Given the description of an element on the screen output the (x, y) to click on. 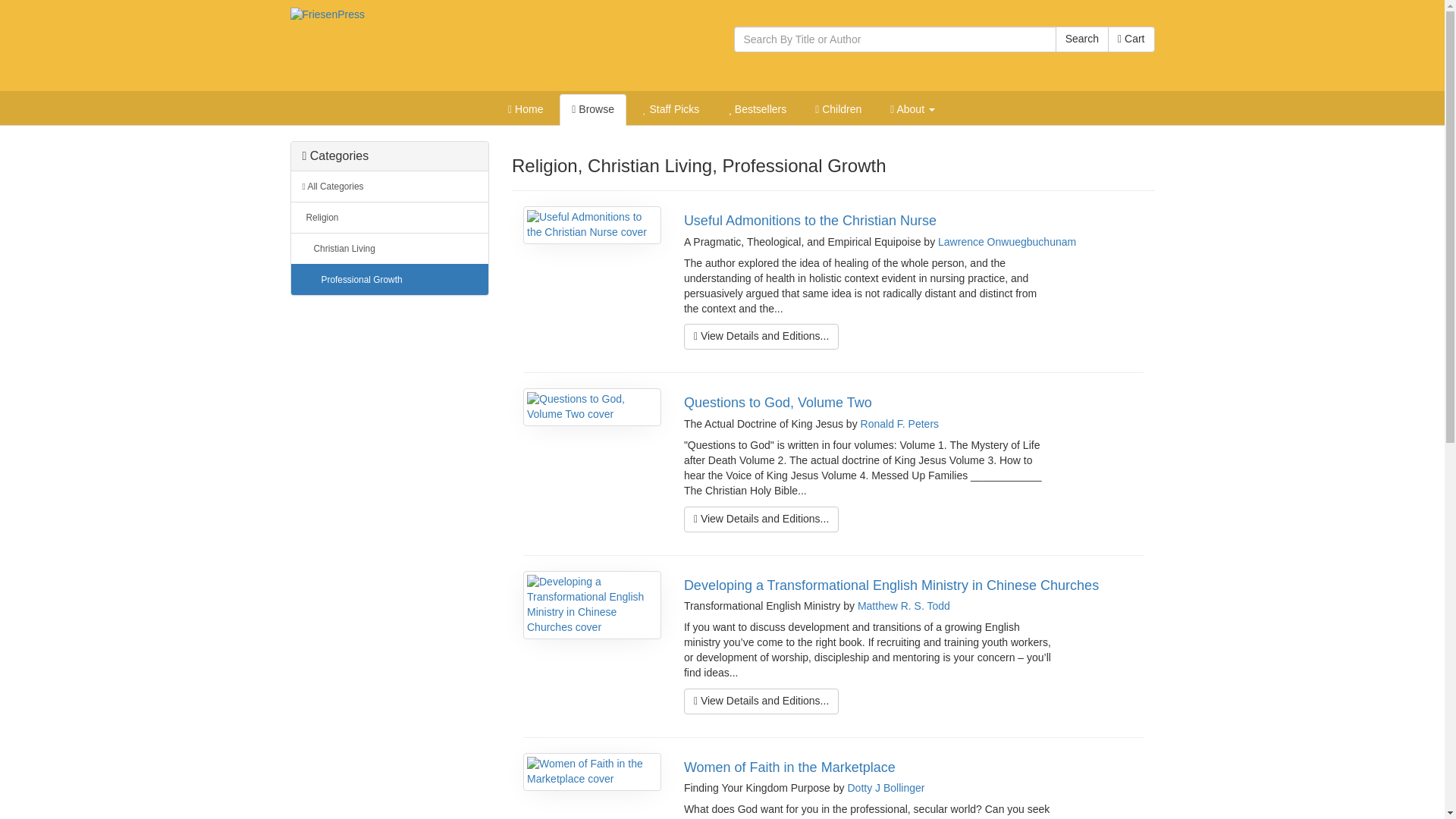
Religion (390, 217)
Children (838, 110)
Bestsellers (756, 110)
View Questions to God, Volume Two (761, 519)
FriesenPress (326, 14)
FriesenPress (326, 14)
Cart (1131, 39)
Ronald F. Peters (899, 423)
Matthew R. S. Todd (903, 605)
Lawrence Onwuegbuchunam (1006, 241)
Women of Faith in the Marketplace (789, 767)
Staff Picks (670, 110)
View Useful Admonitions to the Christian Nurse (761, 336)
About (912, 110)
View Details and Editions... (761, 336)
